Given the description of an element on the screen output the (x, y) to click on. 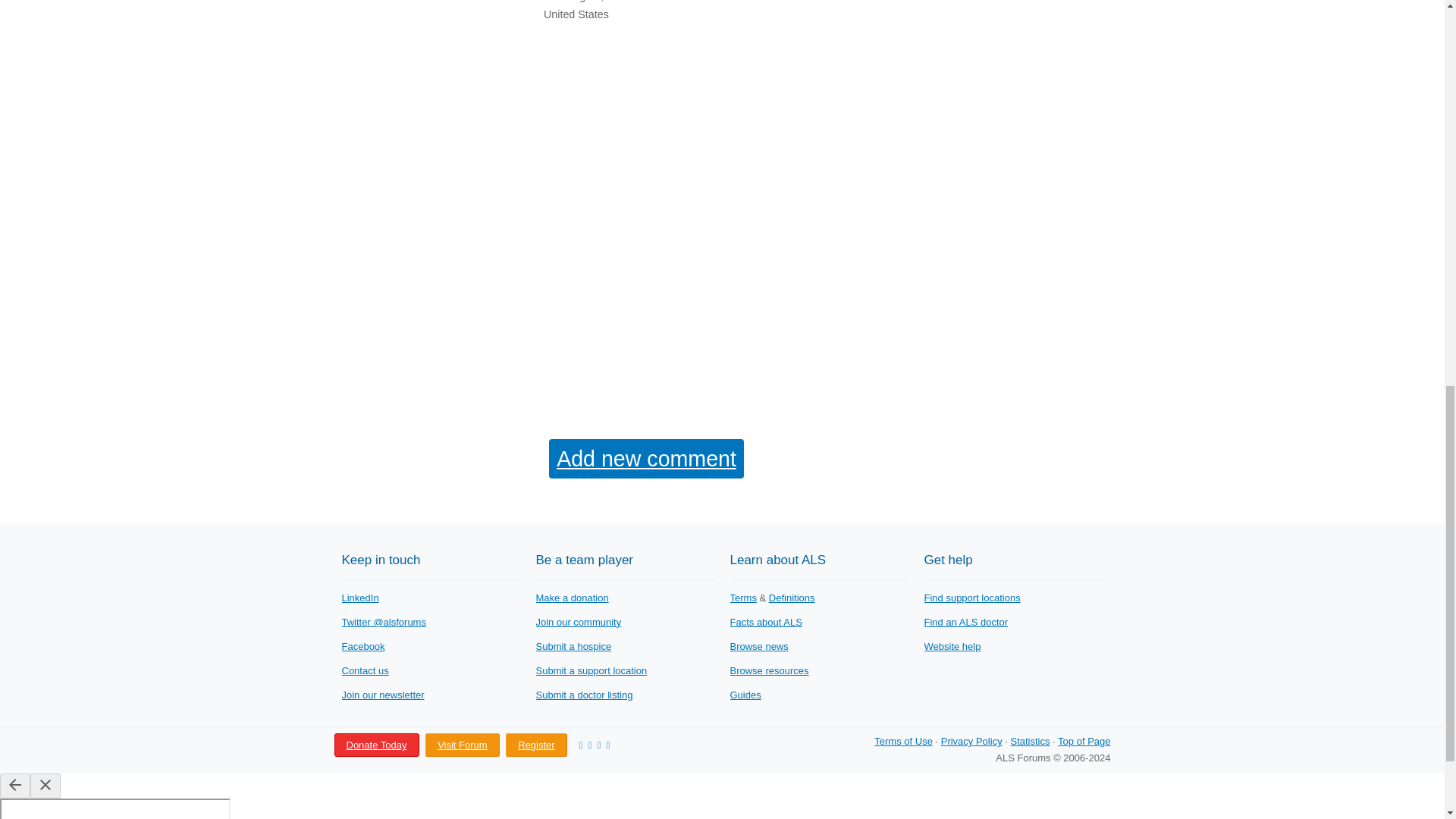
Join our newsletter (381, 695)
Facebook (362, 645)
Contact us (364, 670)
Our Facebook (362, 645)
Share your thoughts and opinions related to this posting. (646, 458)
Add new comment (646, 458)
Add hospice (573, 645)
Our Twitter (382, 622)
LinkedIn (359, 597)
